Given the description of an element on the screen output the (x, y) to click on. 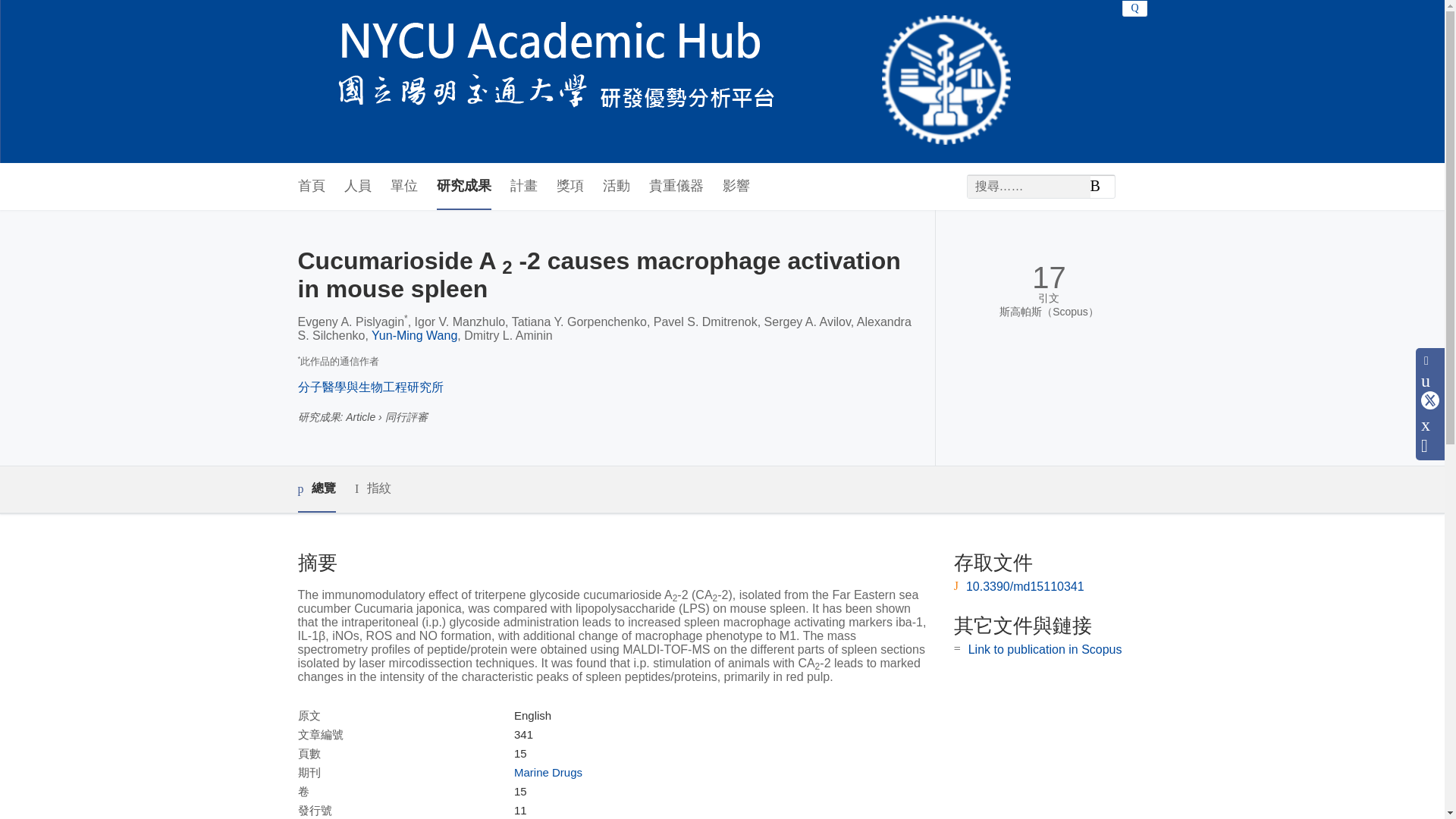
Yun-Ming Wang (414, 335)
Marine Drugs (547, 771)
Link to publication in Scopus (1045, 649)
